Given the description of an element on the screen output the (x, y) to click on. 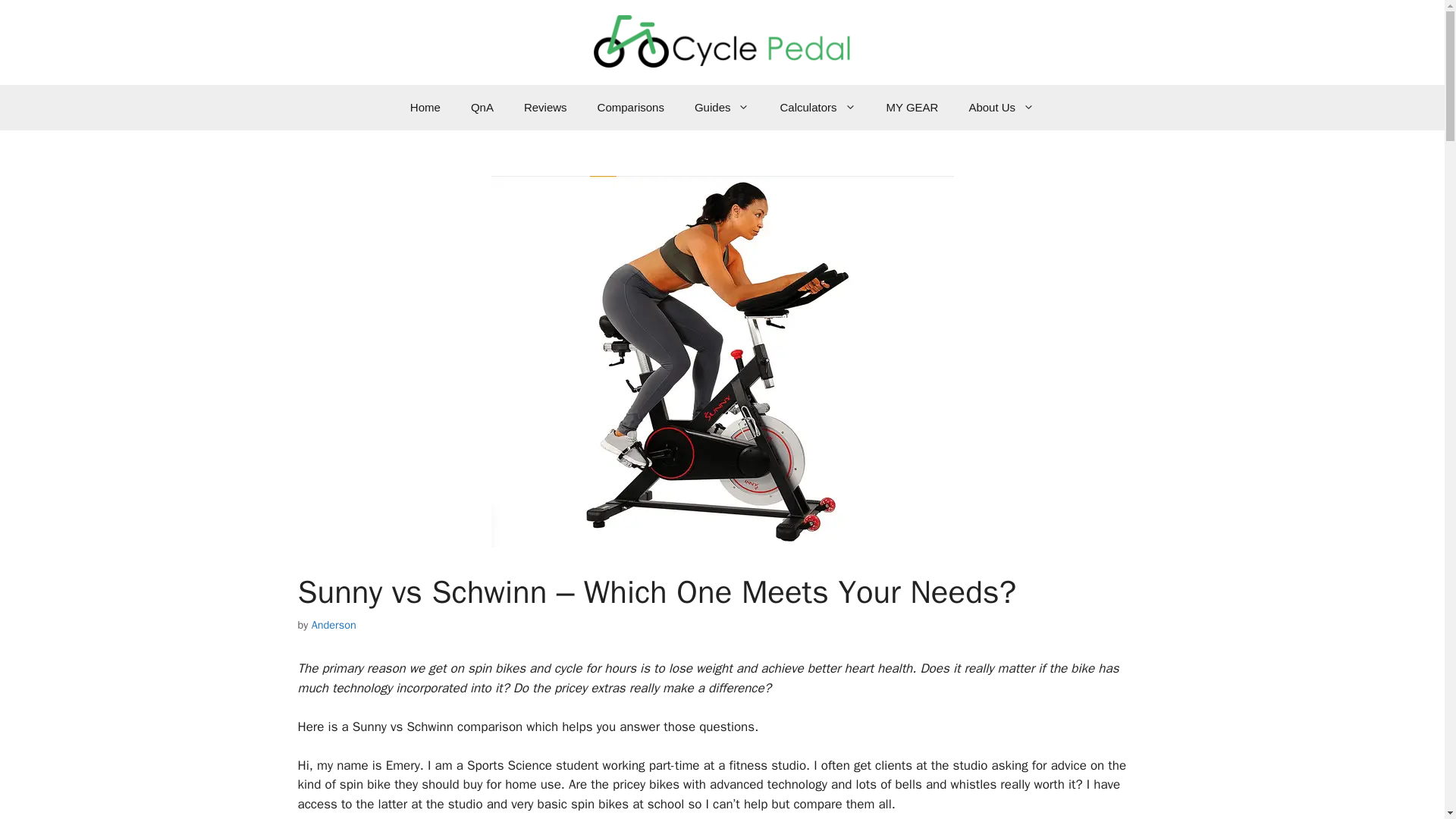
View all posts by Anderson (333, 624)
MY GEAR (911, 107)
Anderson (333, 624)
Comparisons (630, 107)
Guides (722, 107)
Reviews (545, 107)
QnA (481, 107)
Calculators (817, 107)
About Us (1001, 107)
Home (424, 107)
